Given the description of an element on the screen output the (x, y) to click on. 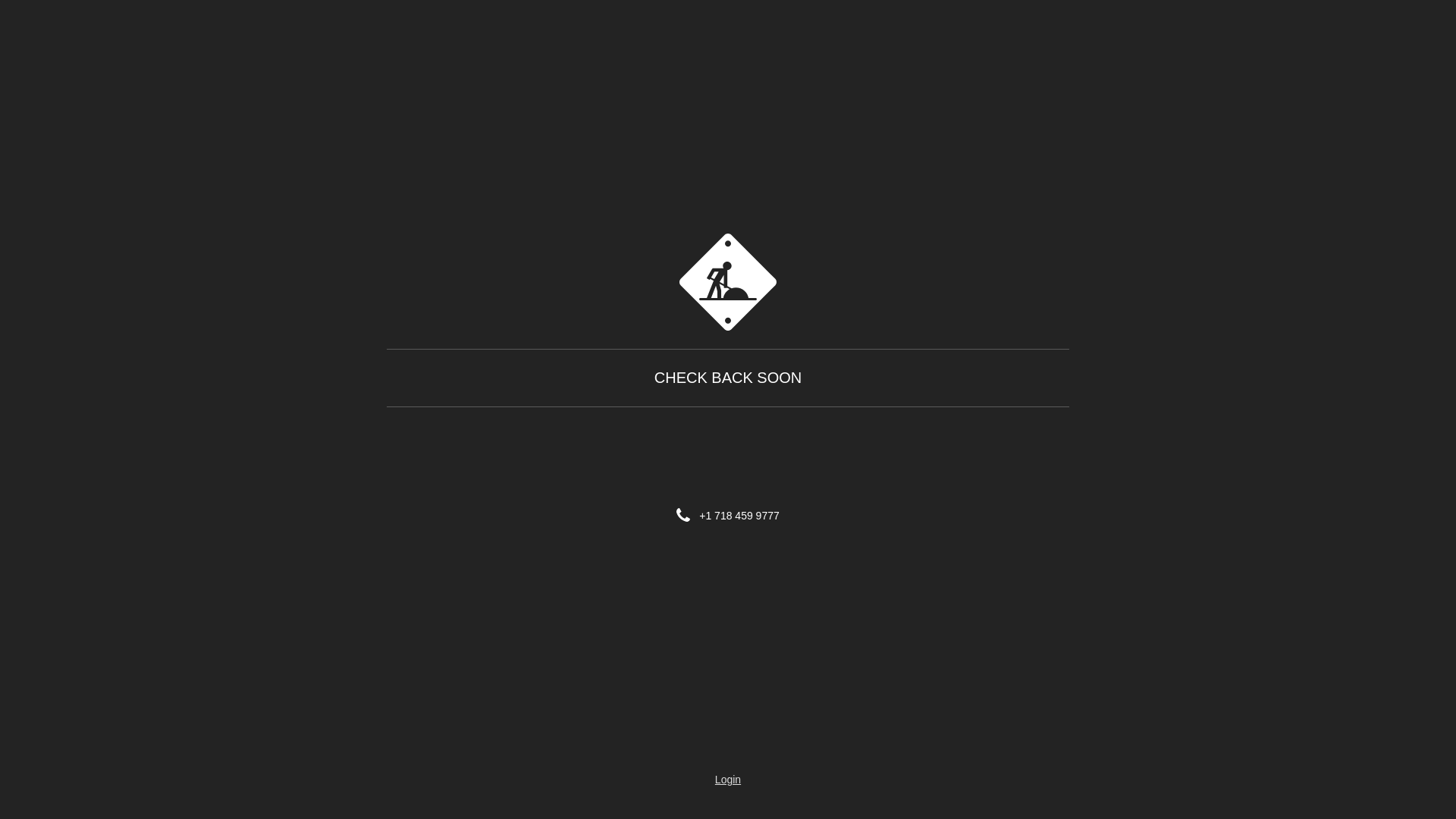
Login Element type: text (727, 779)
